Given the description of an element on the screen output the (x, y) to click on. 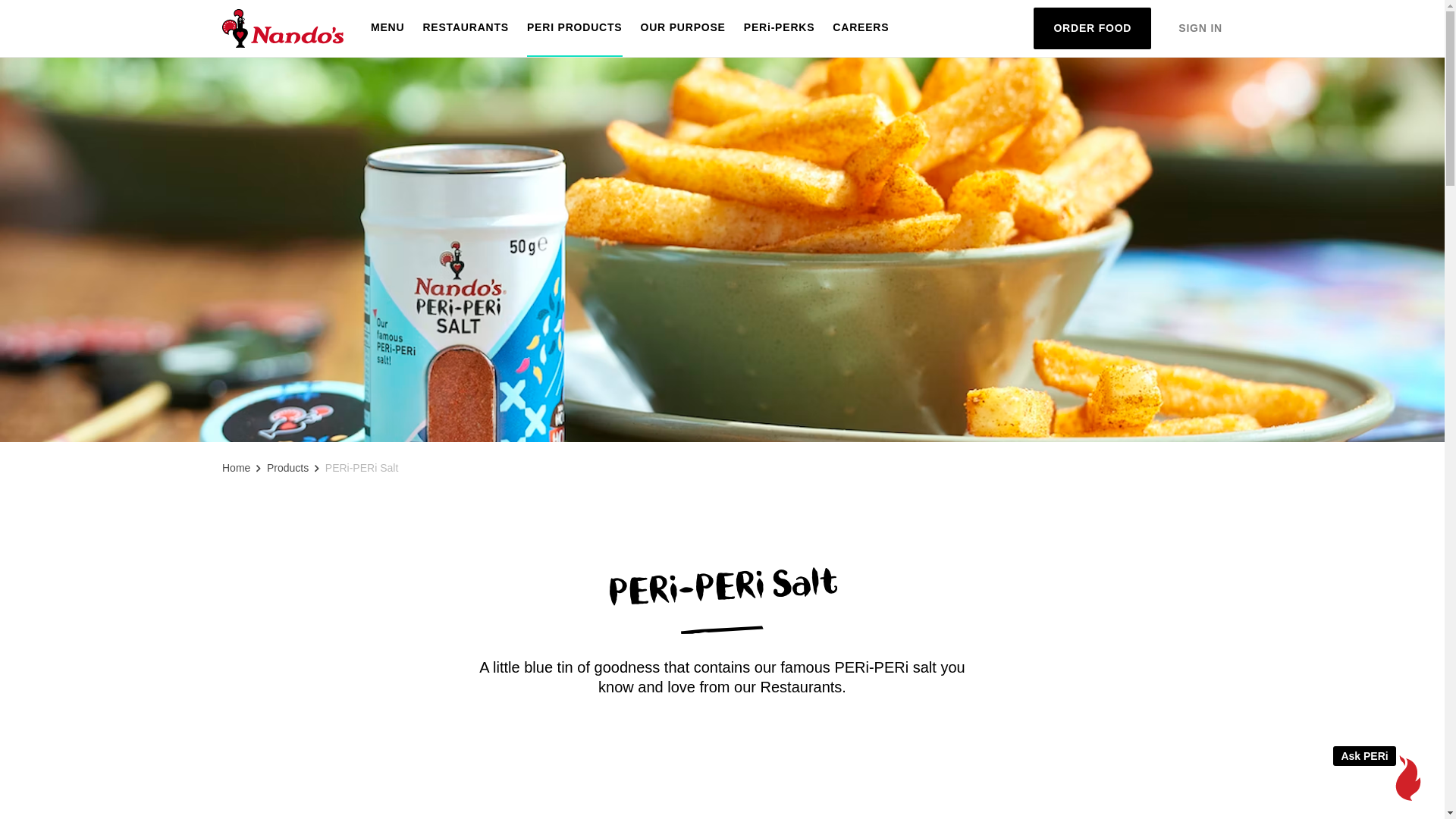
Home Element type: text (236, 468)
SIGN IN Element type: text (1200, 28)
CAREERS Element type: text (860, 28)
MENU Element type: text (387, 28)
OUR PURPOSE Element type: text (682, 28)
PERi-PERKS Element type: text (779, 28)
ORDER FOOD Element type: text (1092, 28)
Products Element type: text (287, 468)
PERI PRODUCTS Element type: text (574, 28)
RESTAURANTS Element type: text (465, 28)
